Given the description of an element on the screen output the (x, y) to click on. 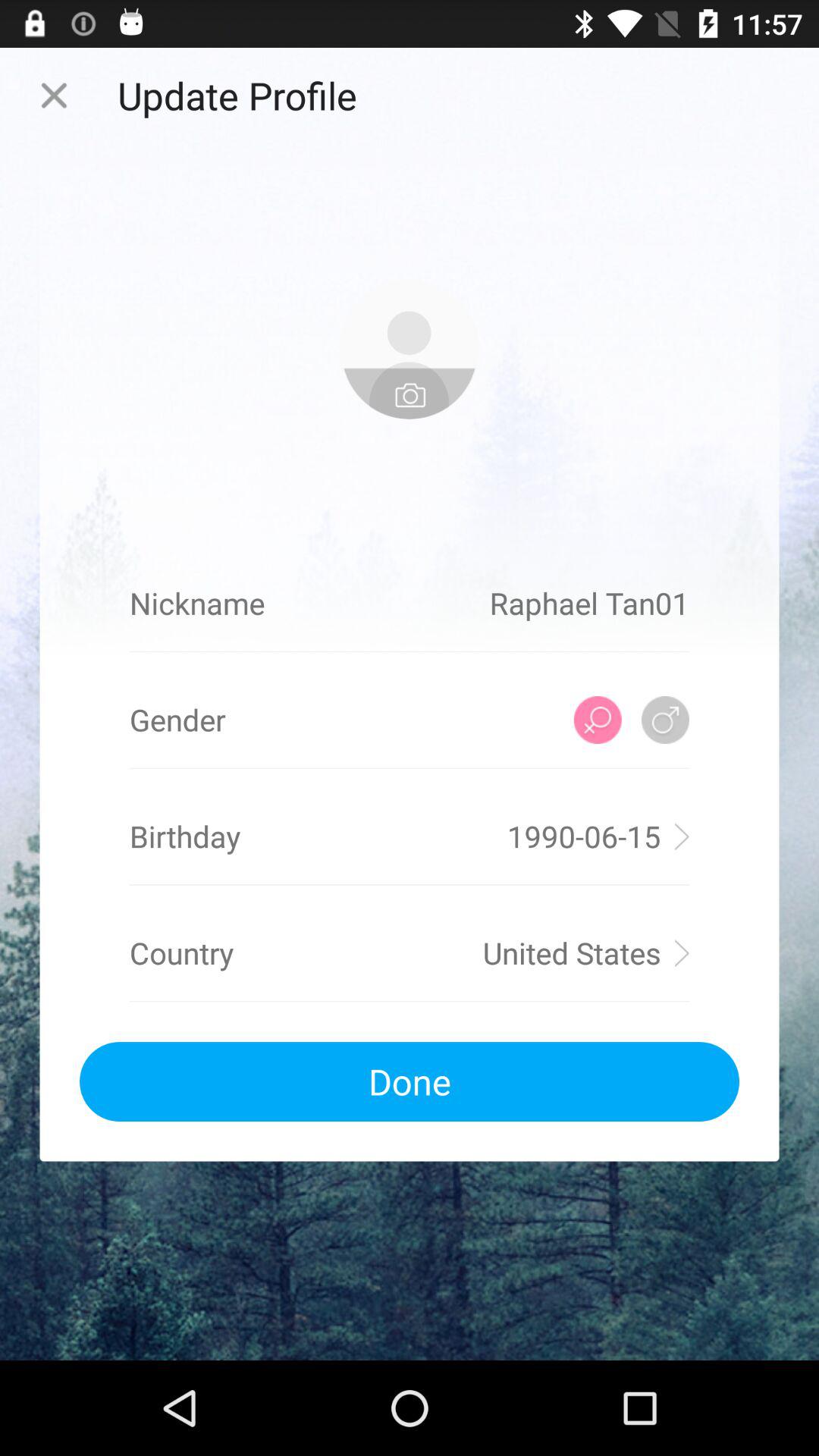
select male gender option (665, 719)
